Given the description of an element on the screen output the (x, y) to click on. 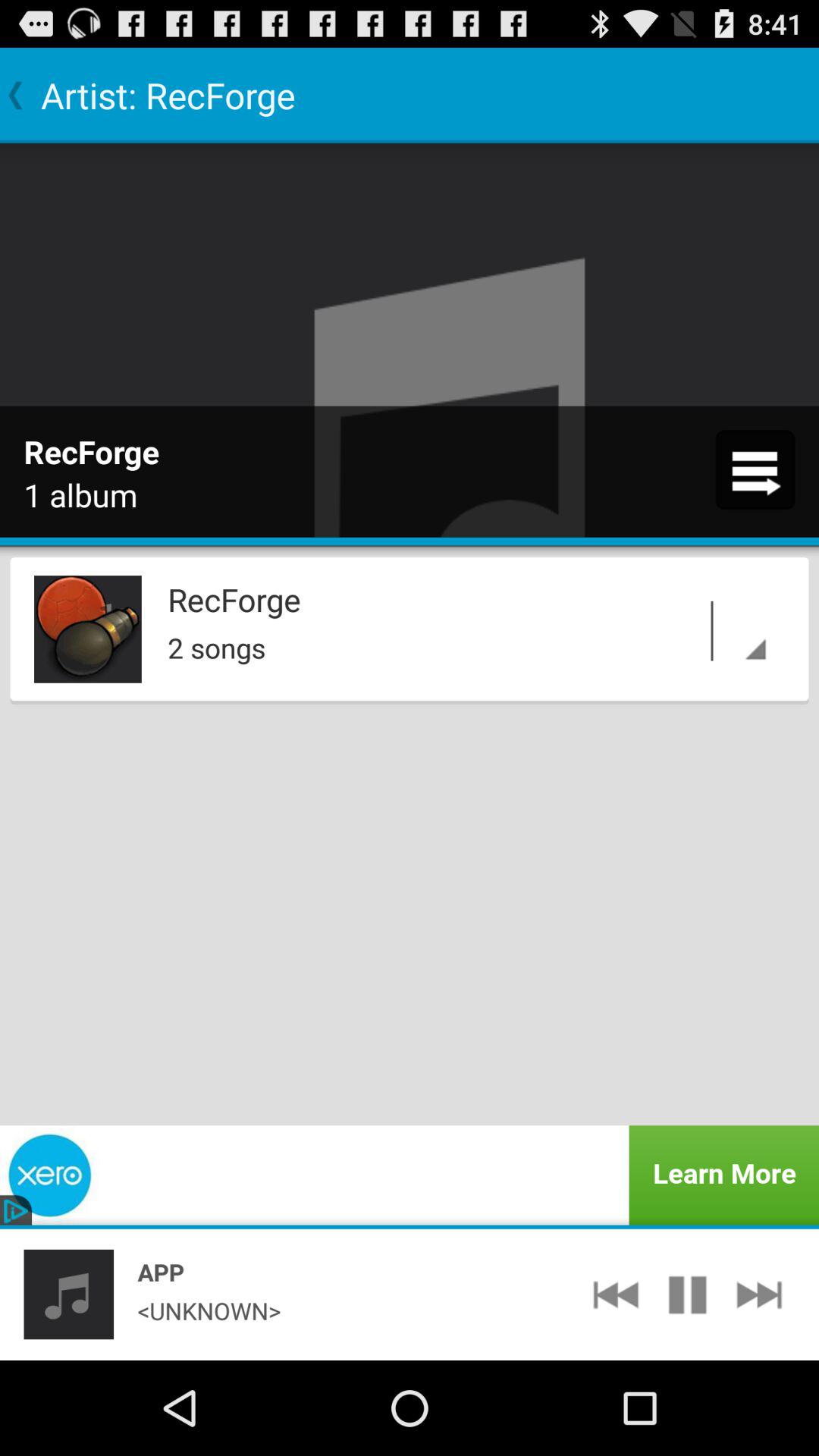
launch icon next to the recforge app (87, 629)
